Given the description of an element on the screen output the (x, y) to click on. 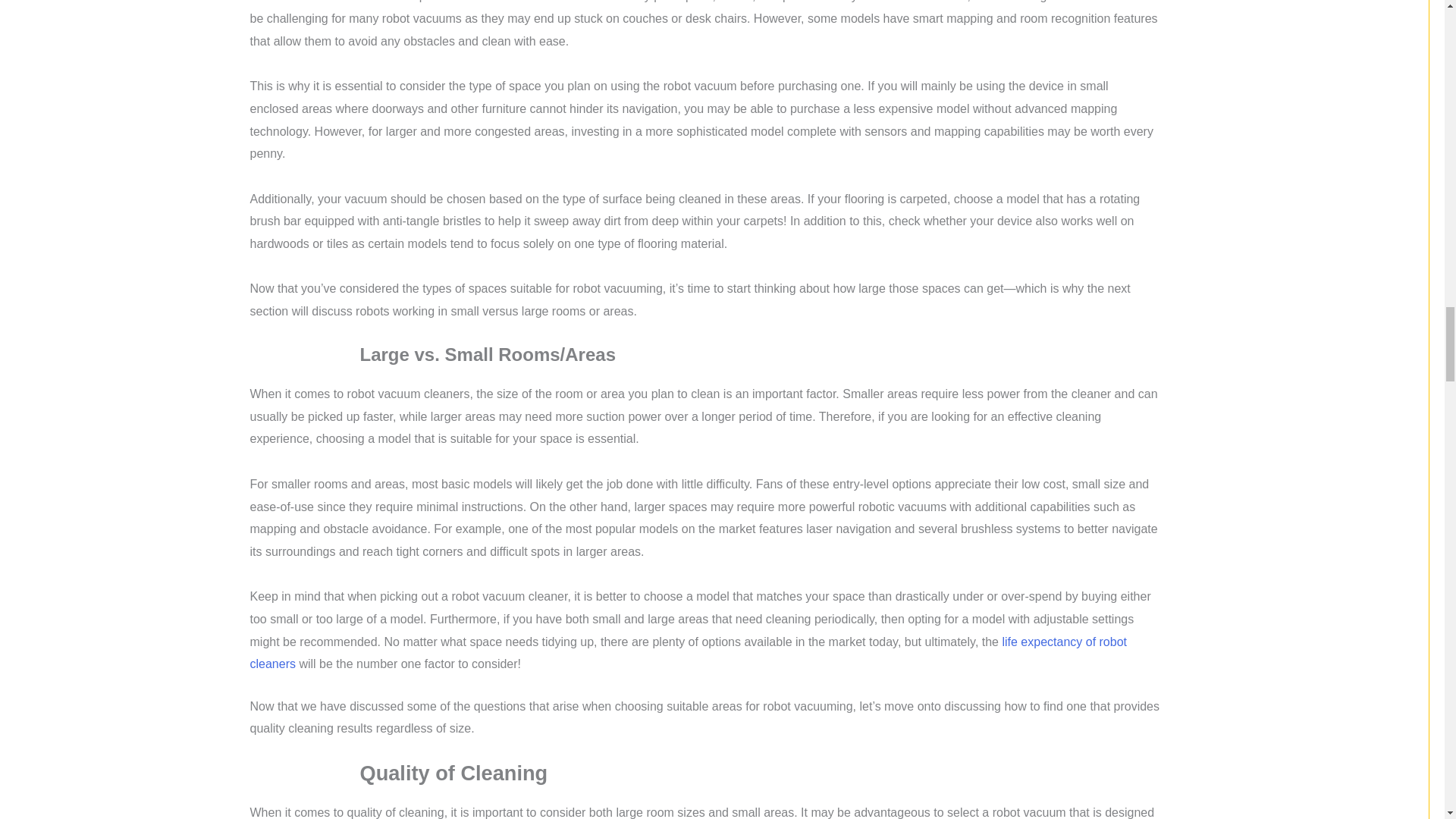
life expectancy of robot cleaners (688, 652)
